Given the description of an element on the screen output the (x, y) to click on. 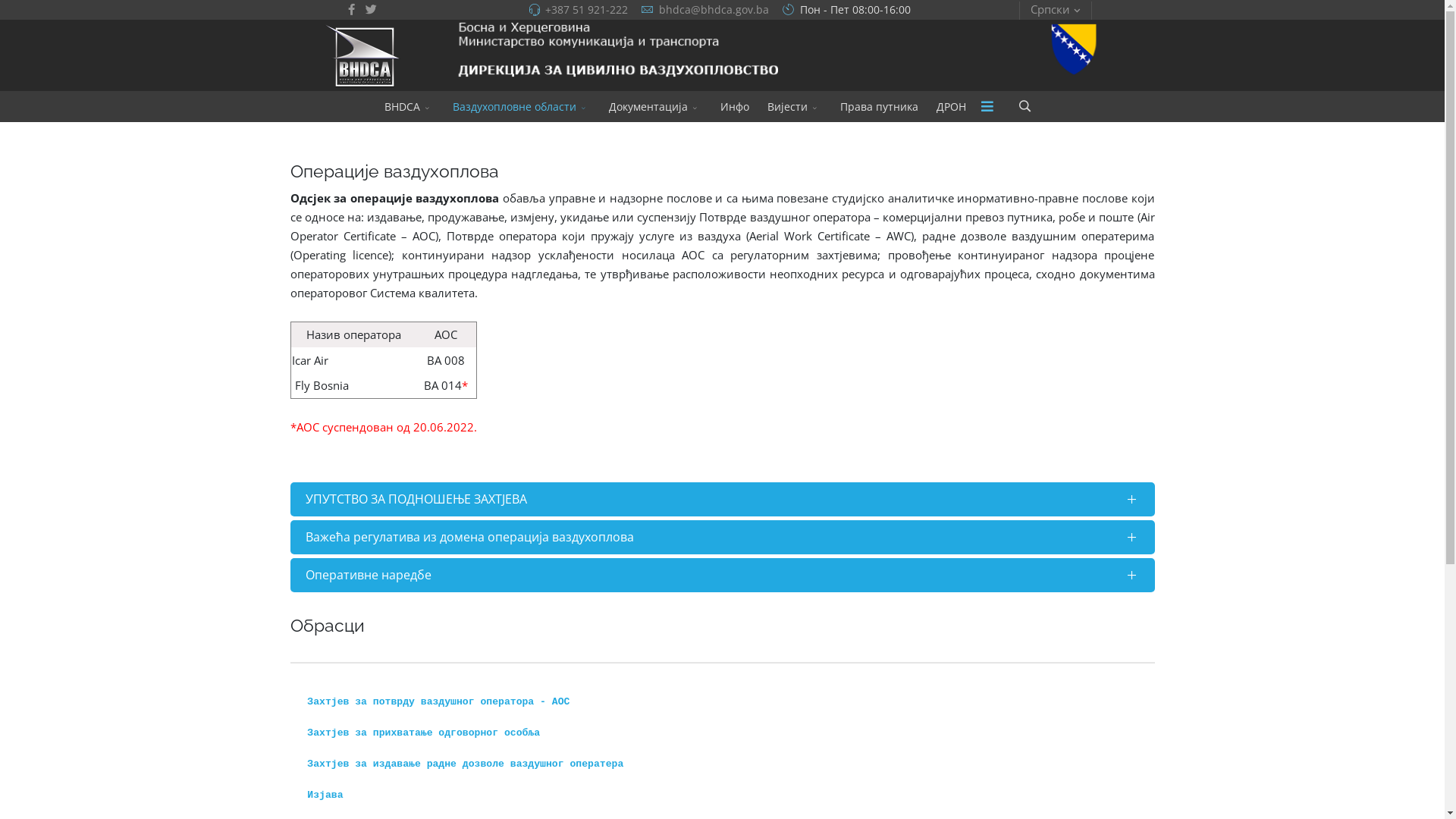
Menu Element type: hover (987, 105)
BHDCA Element type: text (408, 106)
bhdca@bhdca.gov.ba Element type: text (713, 9)
+387 51 921-222 Element type: text (585, 9)
